Given the description of an element on the screen output the (x, y) to click on. 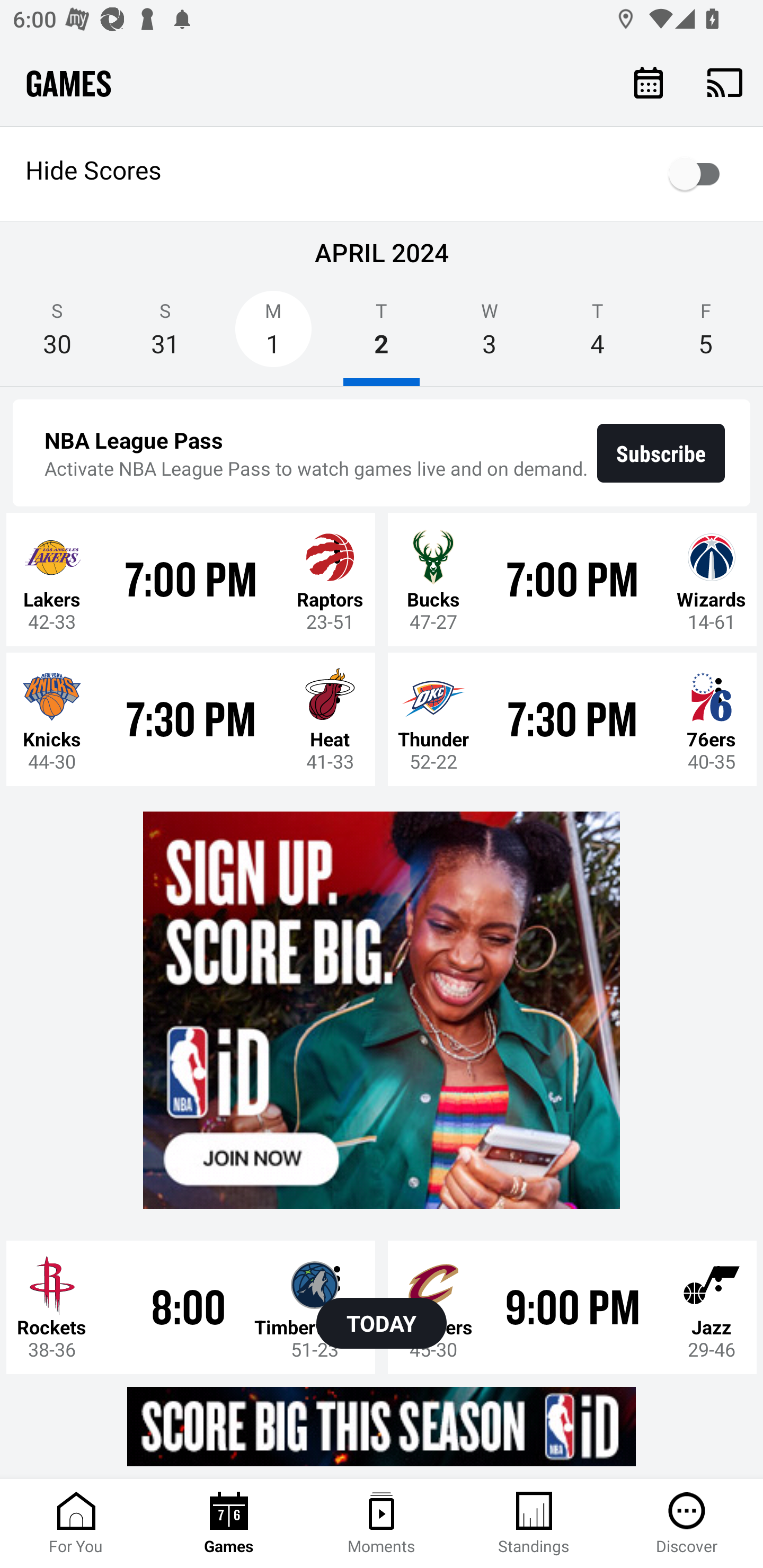
Cast. Disconnected (724, 82)
Calendar (648, 81)
Hide Scores (381, 174)
S 30 (57, 334)
S 31 (165, 334)
M 1 (273, 334)
T 2 (381, 334)
W 3 (489, 334)
T 4 (597, 334)
F 5 (705, 334)
Subscribe (660, 452)
Lakers 42-33 7:00 PM Raptors 23-51 (190, 579)
Bucks 47-27 7:00 PM Wizards 14-61 (571, 579)
Knicks 44-30 7:30 PM Heat 41-33 (190, 718)
Thunder 52-22 7:30 PM 76ers 40-35 (571, 718)
g5nqqygr7owph (381, 1010)
Rockets 38-36 8:00 PM Timberwolves 51-23 (190, 1306)
Cavaliers 45-30 9:00 PM Jazz 29-46 (571, 1306)
TODAY (381, 1323)
g5nqqygr7owph (381, 1426)
For You (76, 1523)
Moments (381, 1523)
Standings (533, 1523)
Discover (686, 1523)
